Given the description of an element on the screen output the (x, y) to click on. 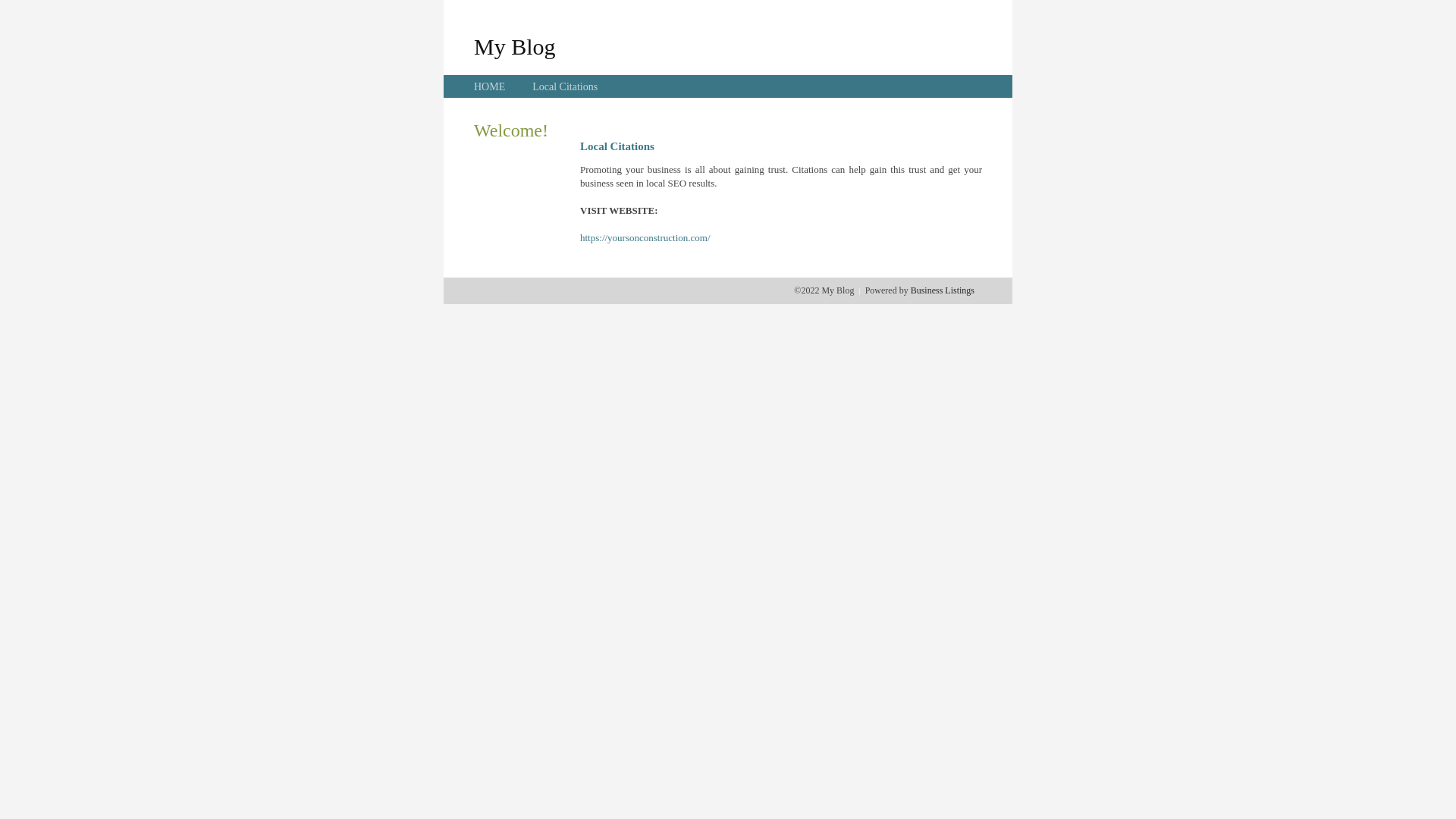
Local Citations Element type: text (564, 86)
My Blog Element type: text (514, 46)
Business Listings Element type: text (942, 290)
HOME Element type: text (489, 86)
https://yoursonconstruction.com/ Element type: text (645, 237)
